Given the description of an element on the screen output the (x, y) to click on. 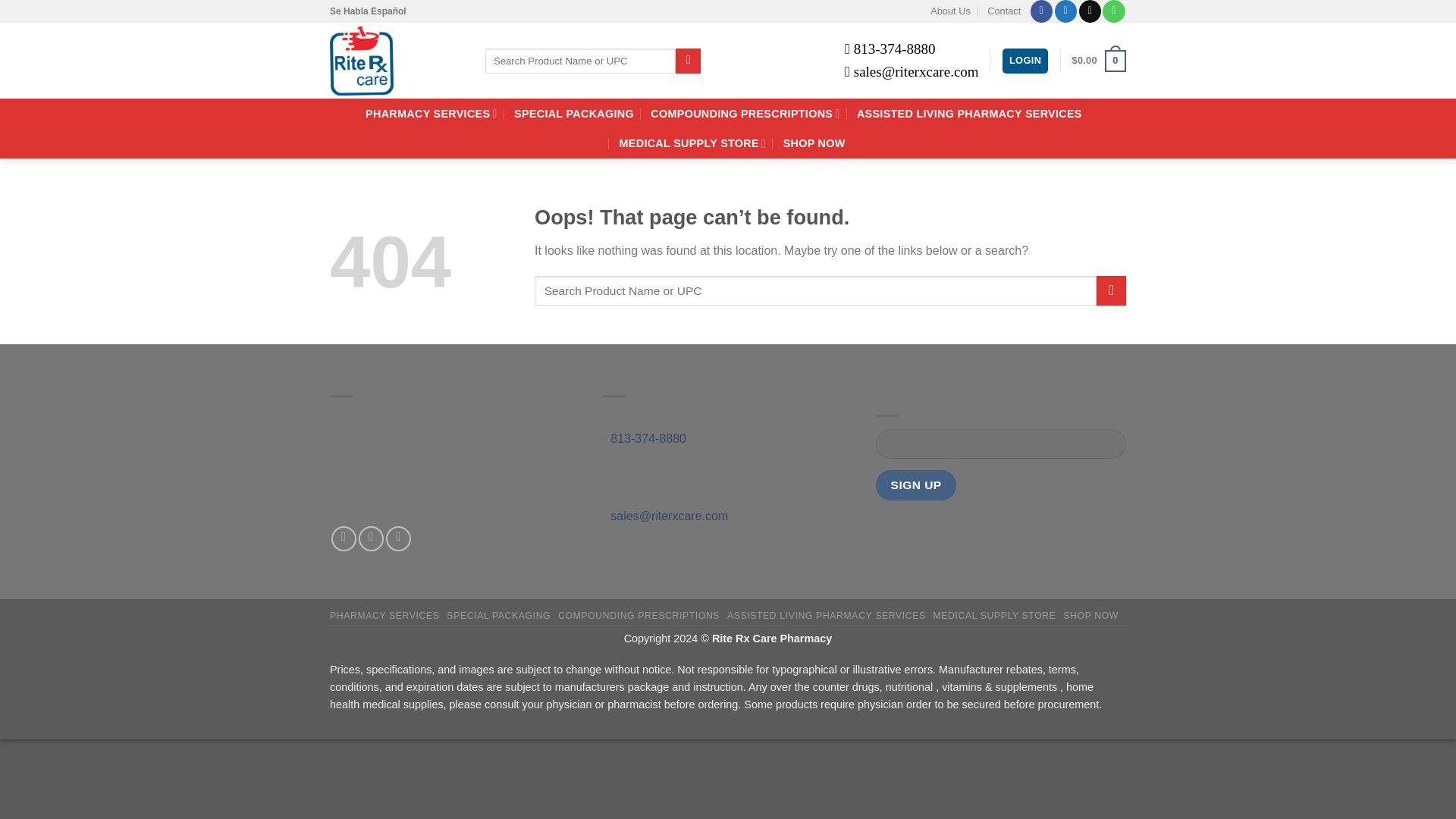
Send us an email (1089, 11)
Follow on Facebook (343, 538)
Rite Rx Care Pharmacy - Rite Rx Care Pharmacy (396, 60)
ASSISTED LIVING PHARMACY SERVICES (969, 113)
Contact (1003, 11)
Follow on Twitter (371, 538)
Call us (1113, 11)
Send us an email (397, 538)
COMPOUNDING PRESCRIPTIONS (745, 112)
Follow on Facebook (1041, 11)
Search (687, 61)
Sign Up (916, 484)
Follow on Twitter (1065, 11)
SPECIAL PACKAGING (573, 113)
LOGIN (1025, 60)
